Given the description of an element on the screen output the (x, y) to click on. 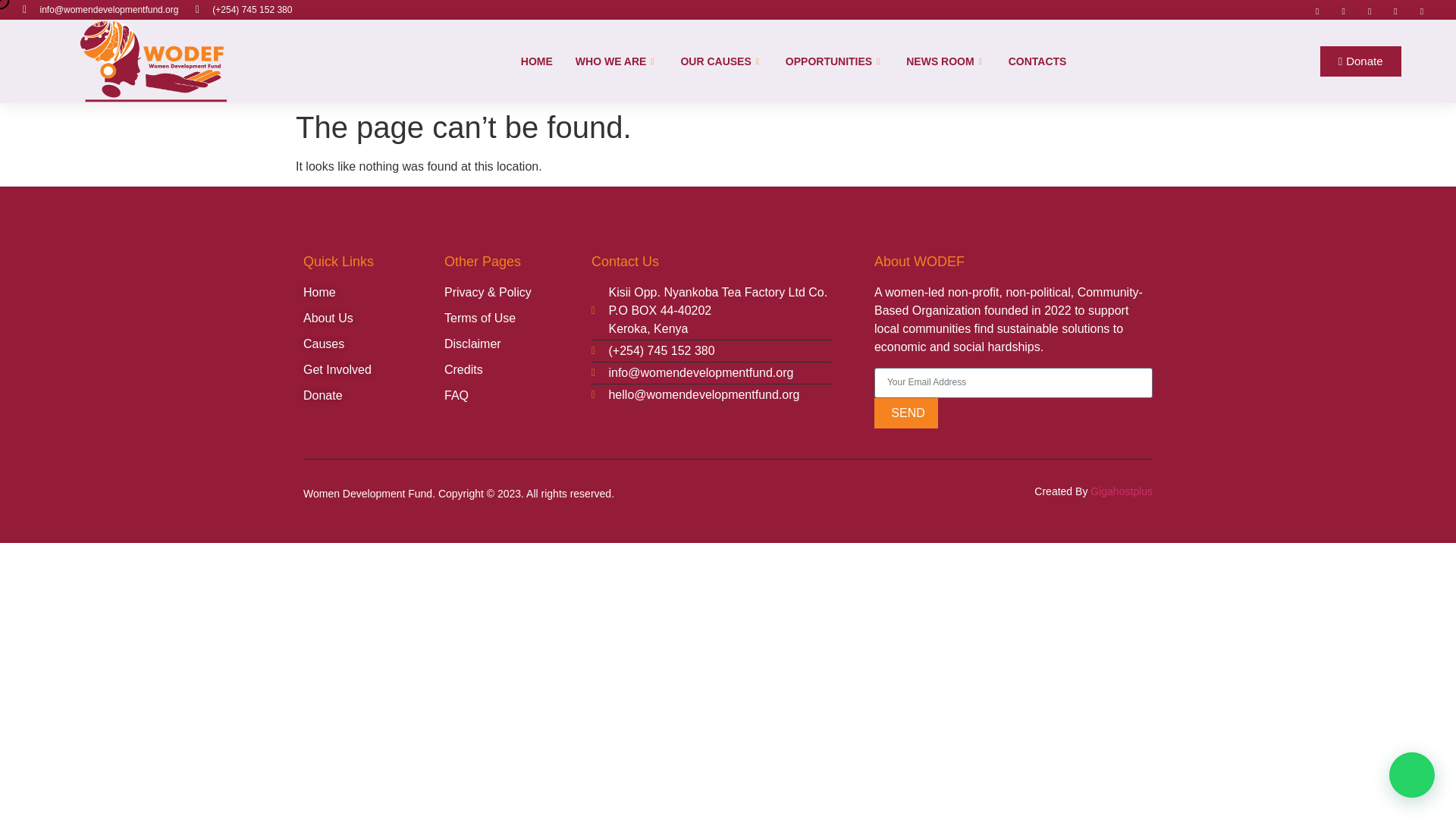
Home (373, 292)
OPPORTUNITIES (834, 61)
HOME (536, 61)
Donate (1360, 63)
Terms of Use (517, 318)
Causes (373, 343)
Credits (517, 370)
CONTACTS (1037, 61)
Get Involved (373, 370)
About Us (373, 318)
WHO WE ARE (616, 61)
NEWS ROOM (945, 61)
OUR CAUSES (720, 61)
FAQ (517, 395)
